Given the description of an element on the screen output the (x, y) to click on. 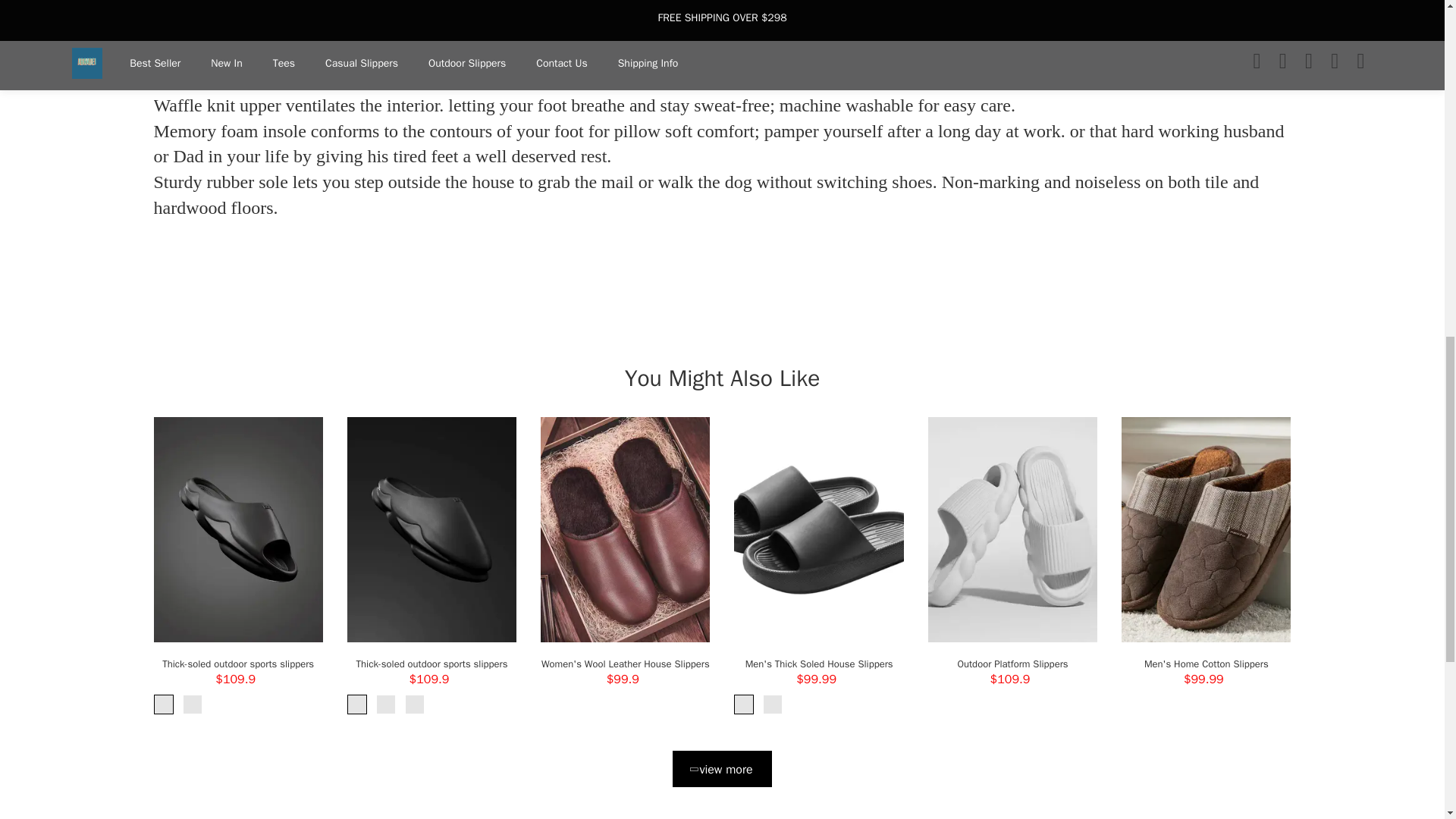
Description (186, 30)
